Given the description of an element on the screen output the (x, y) to click on. 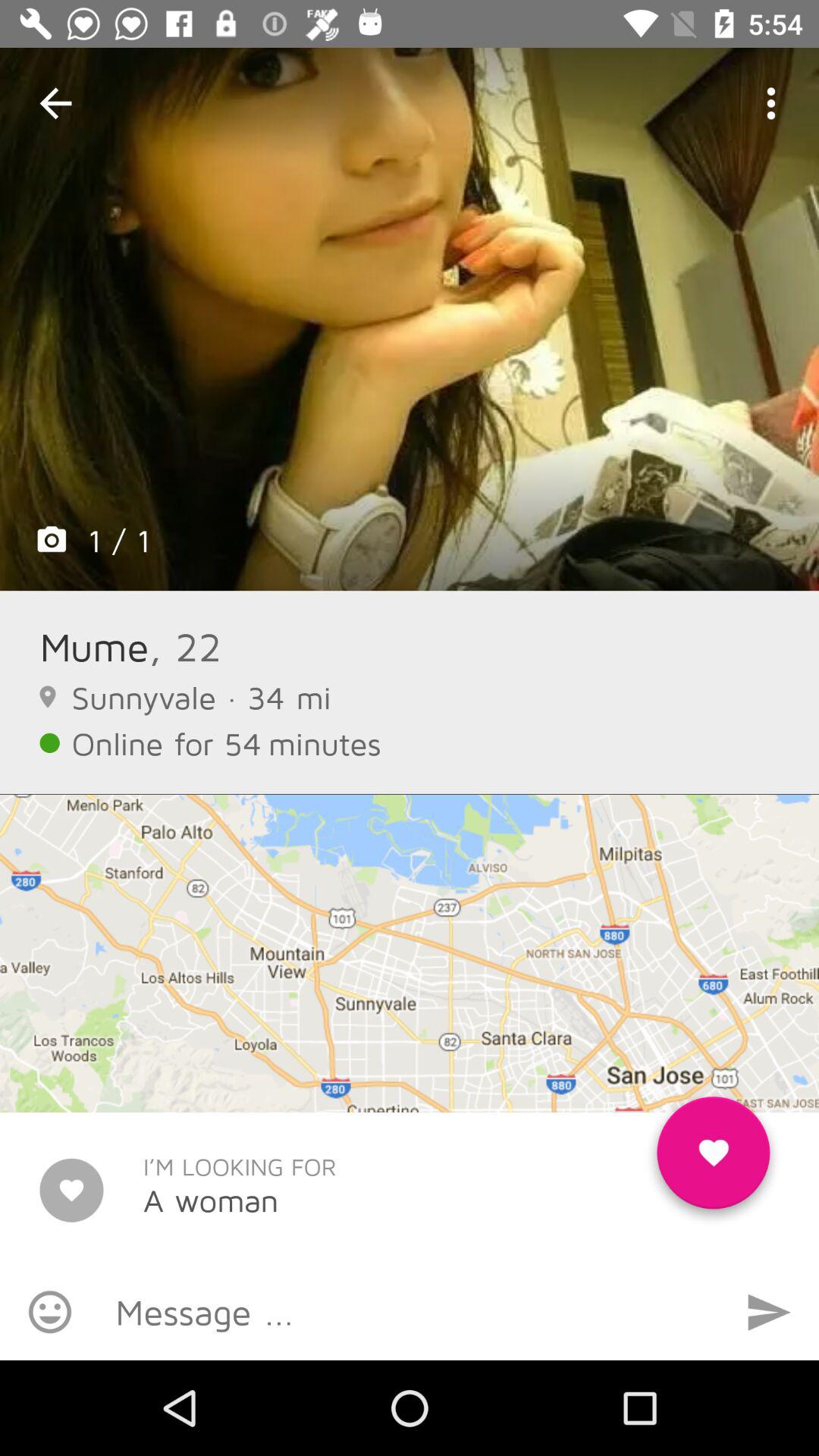
launch the icon at the top left corner (55, 103)
